Given the description of an element on the screen output the (x, y) to click on. 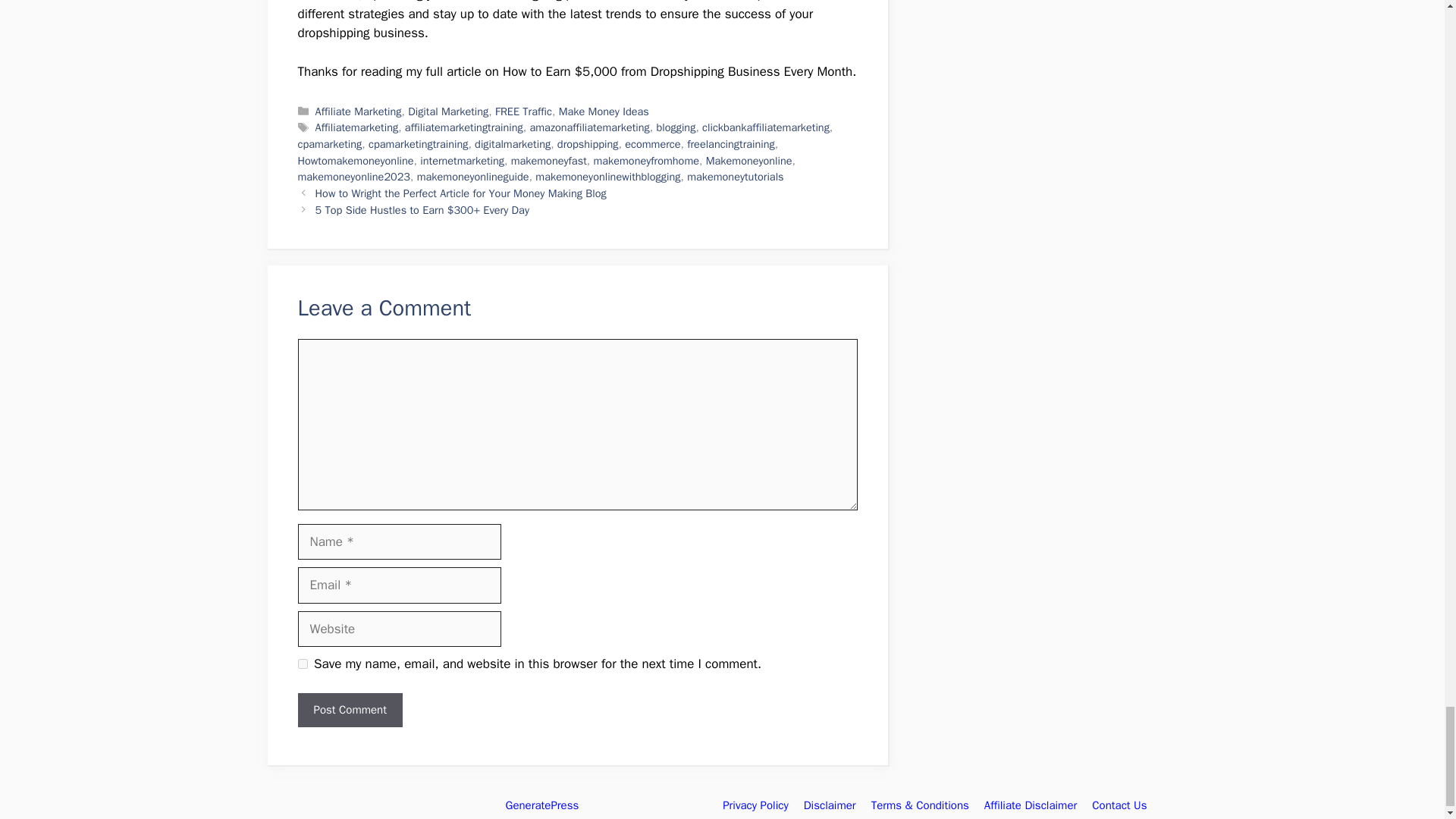
clickbankaffiliatemarketing (765, 127)
Affiliate Marketing (358, 110)
dropshipping (587, 143)
Make Money Ideas (604, 110)
amazonaffiliatemarketing (589, 127)
digitalmarketing (512, 143)
ecommerce (651, 143)
yes (302, 664)
Affiliatemarketing (356, 127)
Digital Marketing (447, 110)
affiliatemarketingtraining (463, 127)
cpamarketing (329, 143)
blogging (675, 127)
FREE Traffic (523, 110)
Post Comment (349, 709)
